Given the description of an element on the screen output the (x, y) to click on. 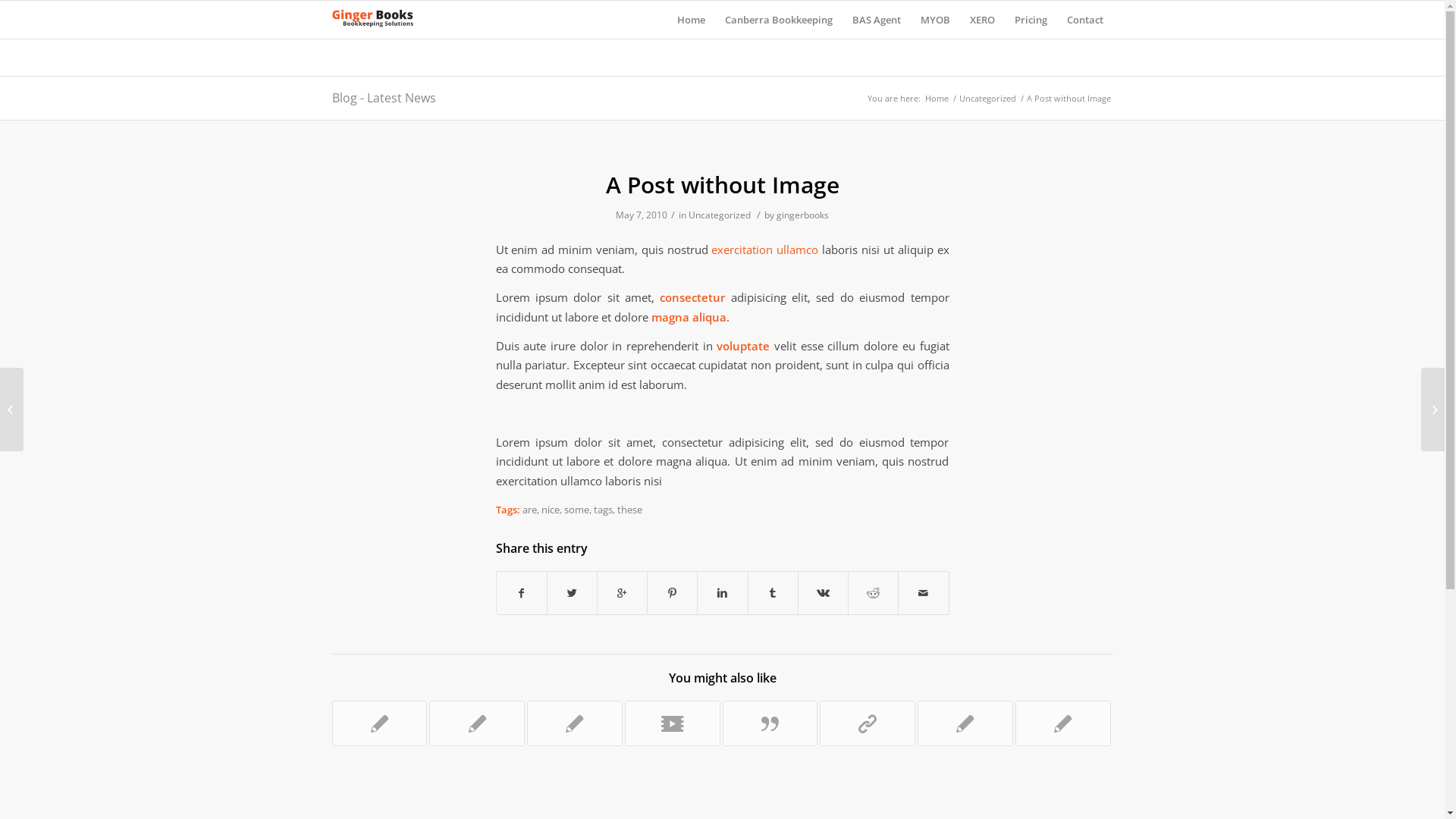
Home Element type: text (691, 19)
exercitation ullamco Element type: text (764, 249)
Blog - Latest News Element type: text (384, 97)
nice Element type: text (550, 509)
Pricing Element type: text (1030, 19)
these Element type: text (629, 509)
gingerbooks Element type: text (802, 214)
Uncategorized Element type: text (987, 97)
are Element type: text (528, 509)
MYOB Element type: text (934, 19)
HTML Styles Element type: hover (965, 723)
XERO Element type: text (982, 19)
Home Element type: text (936, 97)
This is a test Element type: hover (574, 723)
Indented Quotes and Images -  beautiful Element type: hover (1062, 723)
This is a post  with post format of type Link Element type: hover (867, 723)
A Post without Image Element type: text (721, 184)
BAS Agent Element type: text (875, 19)
tags Element type: text (602, 509)
some Element type: text (576, 509)
Canberra Bookkeeping Element type: text (777, 19)
Contact Element type: text (1085, 19)
Another title for our pretty cool blog Element type: hover (672, 723)
Uncategorized Element type: text (719, 214)
This is a standard post format with preview Picture Element type: hover (379, 723)
Custom Lightbox! Element type: hover (476, 723)
